Given the description of an element on the screen output the (x, y) to click on. 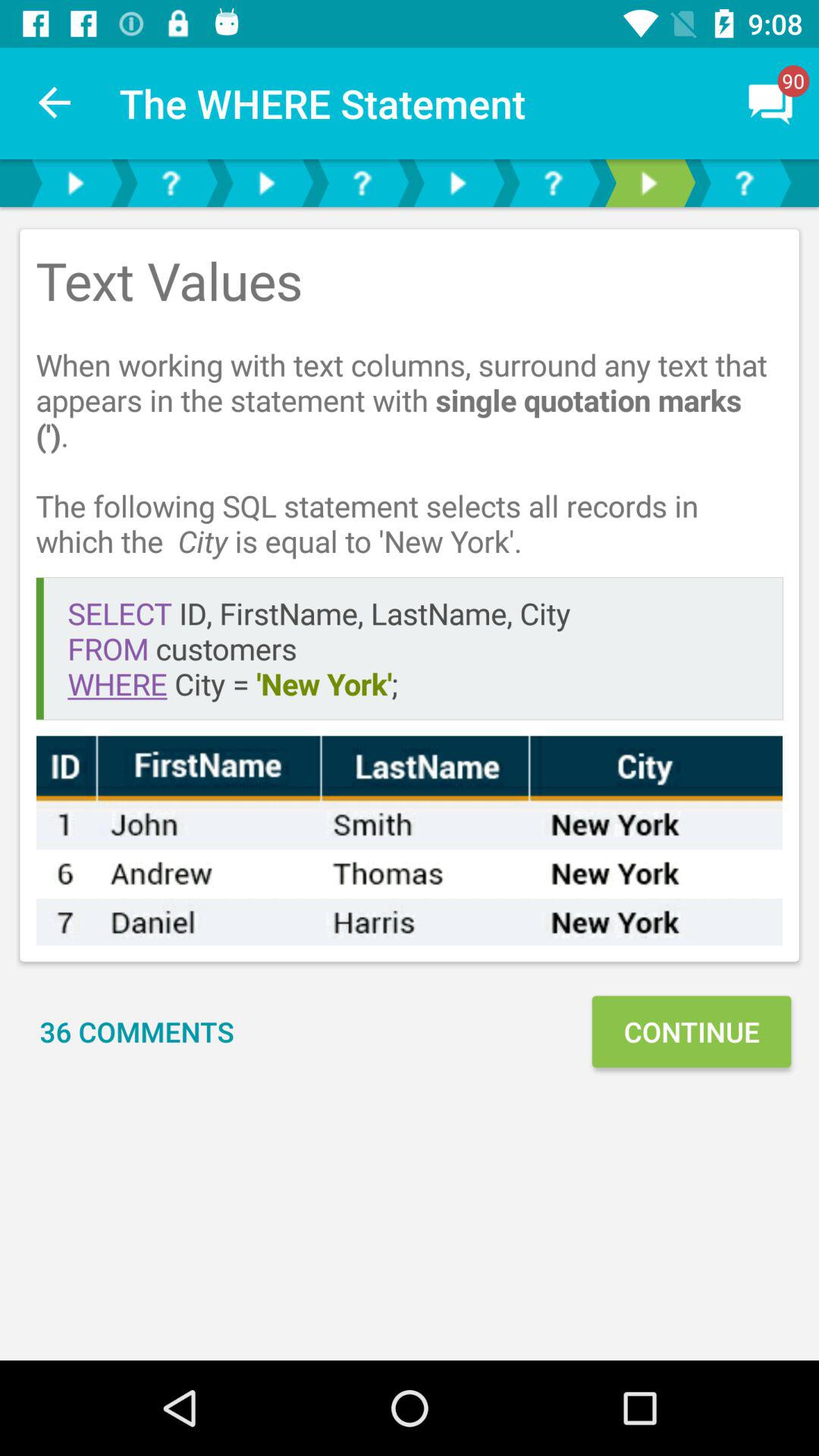
go to play (74, 183)
